Given the description of an element on the screen output the (x, y) to click on. 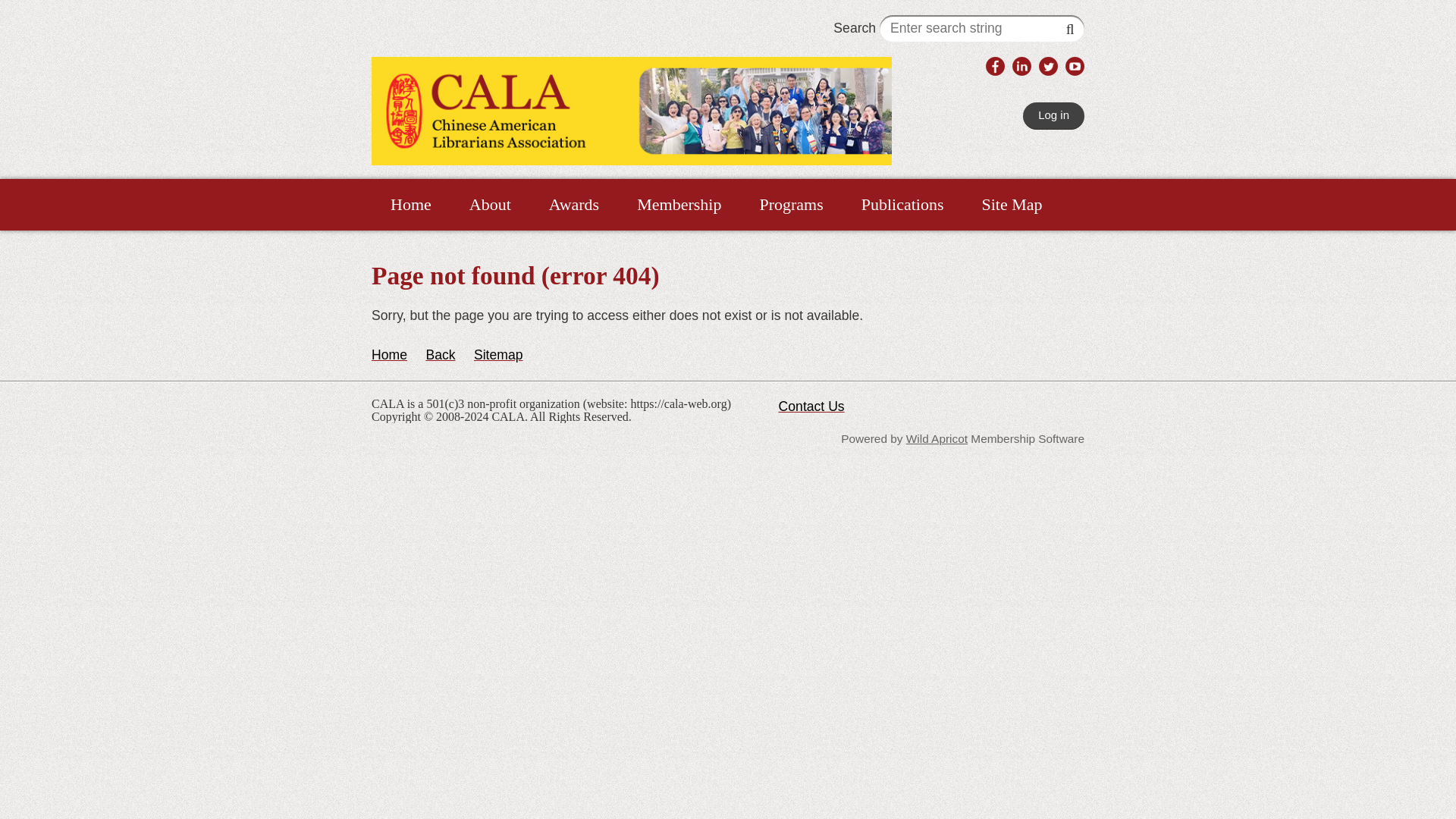
top menu: Site Map (1011, 204)
Back (439, 354)
top menu: Membership (678, 204)
Home (389, 354)
top menu: Publications (902, 204)
Publications (902, 204)
4.YouTube (1074, 66)
Programs (790, 204)
top menu: About (489, 204)
Site Map (1011, 204)
1.Facebook (994, 66)
Contact Us (811, 406)
Wild Apricot (936, 438)
3.Twitter (1048, 66)
Log in (1053, 115)
